Given the description of an element on the screen output the (x, y) to click on. 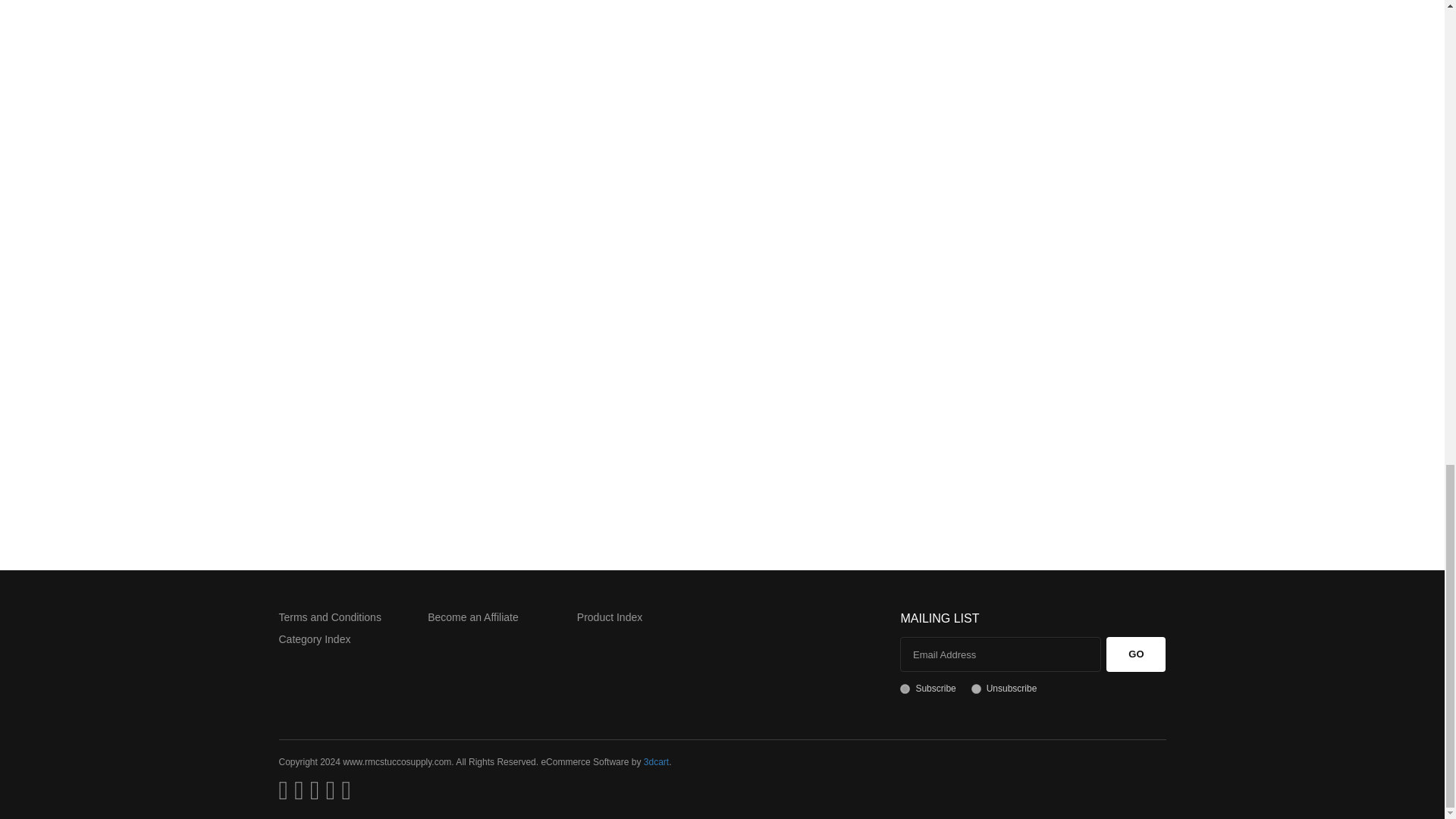
0 (976, 688)
1 (904, 688)
